Given the description of an element on the screen output the (x, y) to click on. 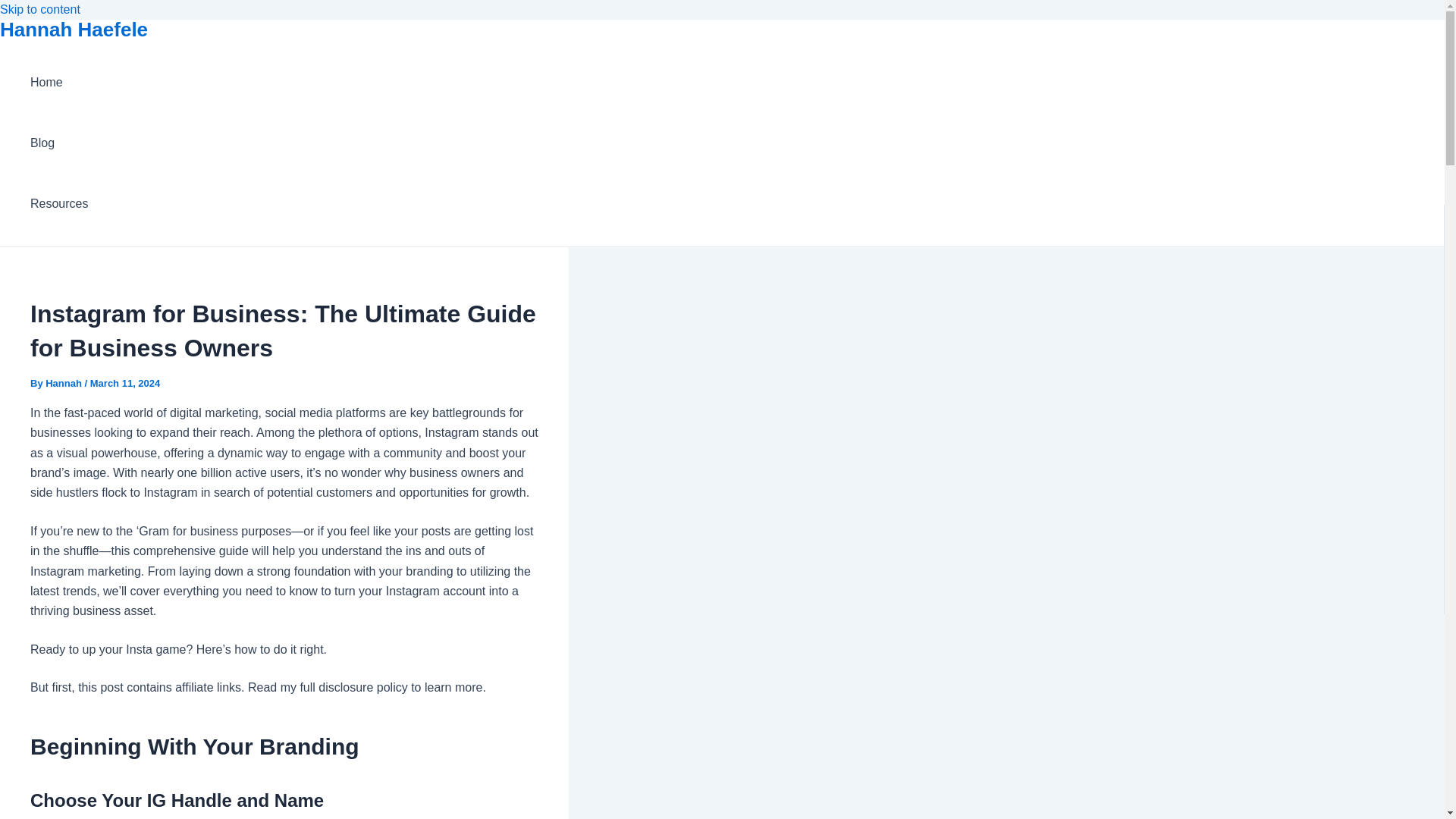
Skip to content (40, 9)
Blog (58, 143)
View all posts by Hannah (64, 383)
Skip to content (40, 9)
Resources (58, 203)
Hannah (64, 383)
Hannah Haefele (74, 29)
Home (58, 82)
